Given the description of an element on the screen output the (x, y) to click on. 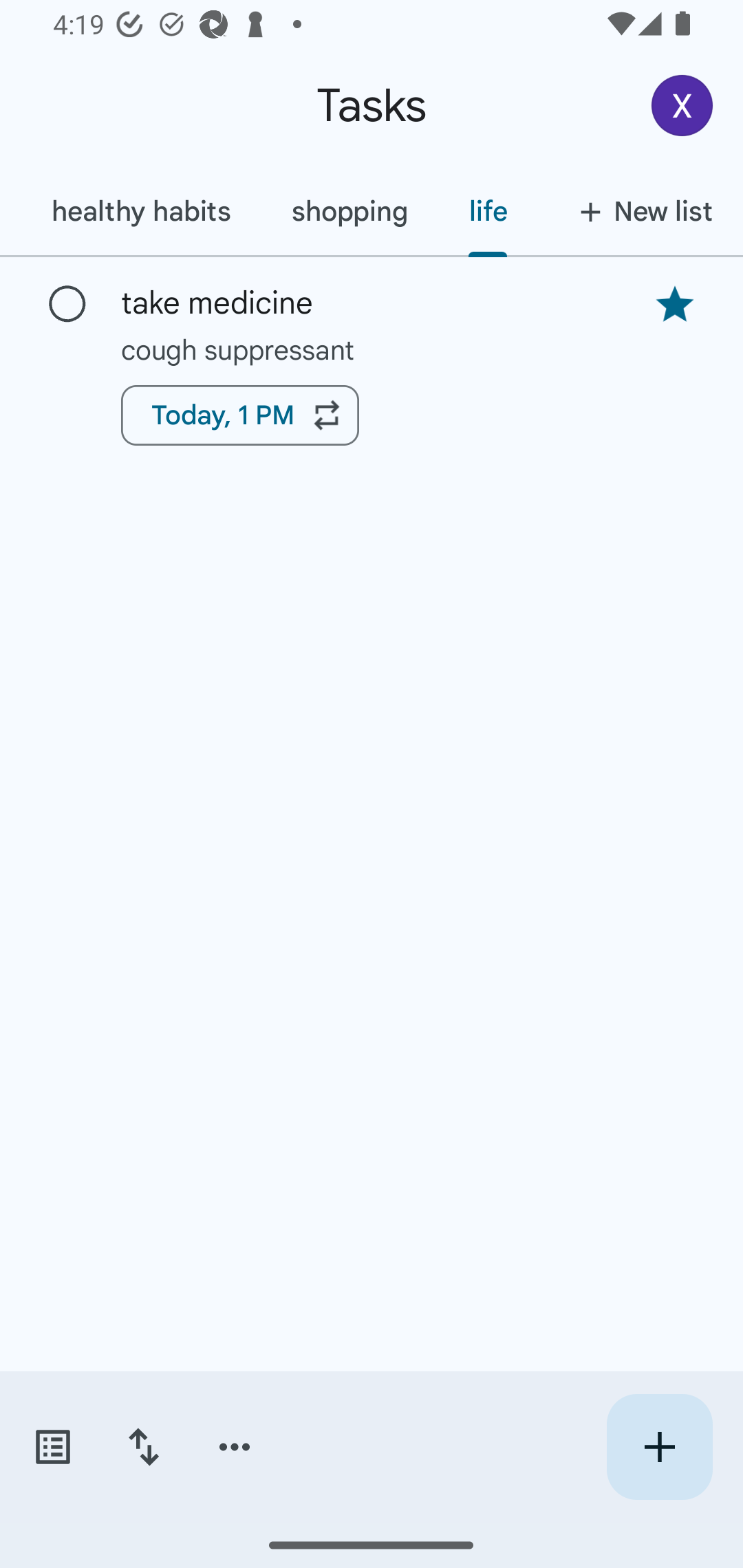
healthy habits (140, 211)
shopping (349, 211)
New list (640, 211)
Remove star (674, 303)
Mark as complete (67, 304)
cough suppressant (371, 349)
Today, 1 PM (239, 415)
Switch task lists (52, 1447)
Create new task (659, 1446)
Change sort order (143, 1446)
More options (234, 1446)
